Given the description of an element on the screen output the (x, y) to click on. 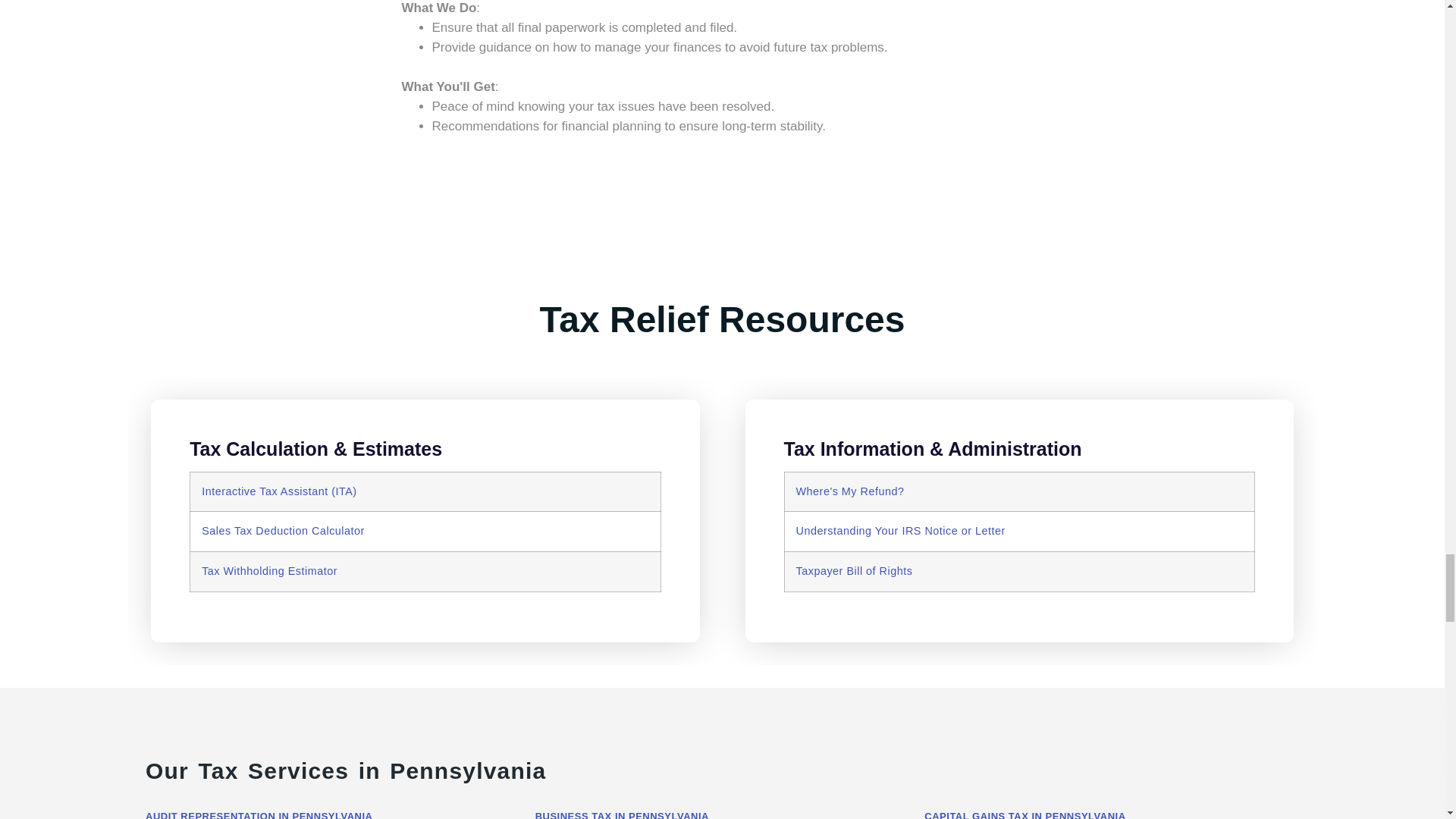
Audit Representation in Pennsylvania (258, 814)
Capital Gains Tax in Pennsylvania (1024, 814)
Business Tax in Pennsylvania (622, 814)
